Given the description of an element on the screen output the (x, y) to click on. 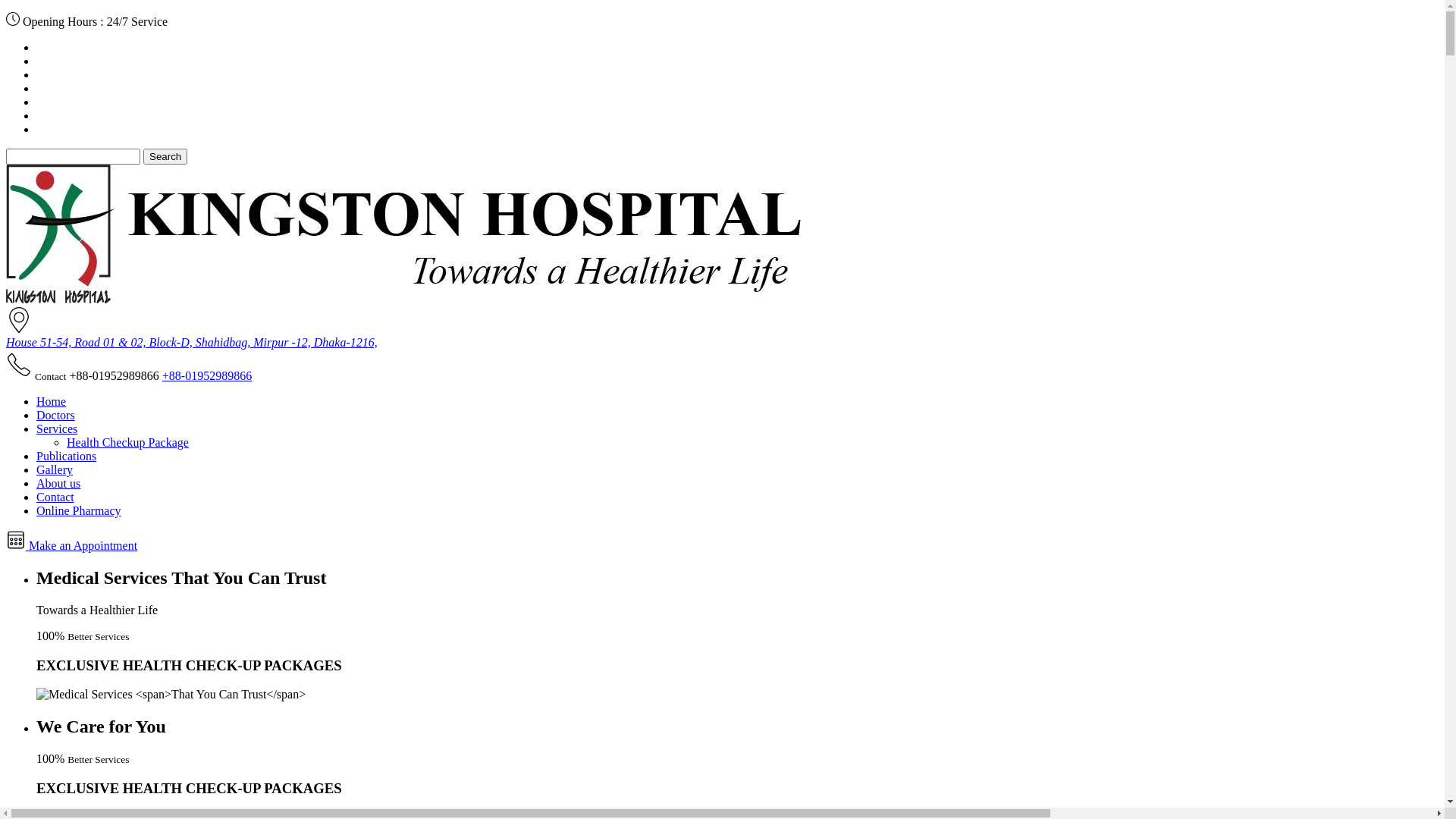
Search Element type: text (165, 156)
Make an Appointment Element type: text (71, 545)
About us Element type: text (58, 482)
Publications Element type: text (66, 455)
Gallery Element type: text (54, 469)
Health Checkup Package Element type: text (127, 442)
Contact Element type: text (55, 496)
Services Element type: text (56, 428)
+88-01952989866 Element type: text (206, 375)
Home Element type: text (50, 401)
Online Pharmacy Element type: text (78, 510)
Doctors Element type: text (55, 414)
